Given the description of an element on the screen output the (x, y) to click on. 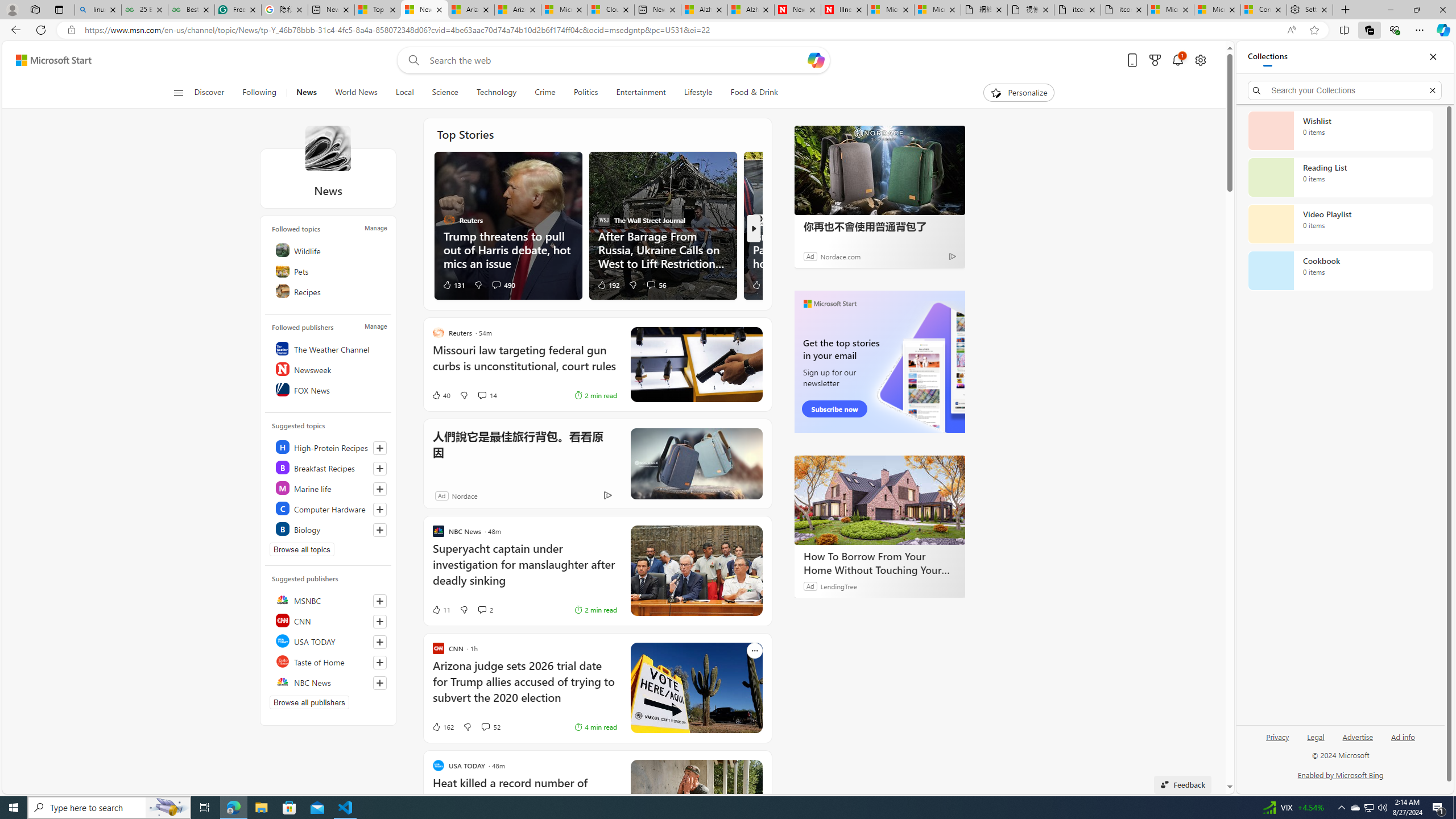
Best SSL Certificates Provider in India - GeeksforGeeks (191, 9)
Lifestyle (698, 92)
Illness news & latest pictures from Newsweek.com (844, 9)
Exit search (1432, 90)
11 Like (440, 609)
Politics (585, 92)
Ad info (1402, 736)
Skip to content (49, 59)
Entertainment (641, 92)
192 Like (608, 284)
View comments 52 Comment (485, 726)
